Given the description of an element on the screen output the (x, y) to click on. 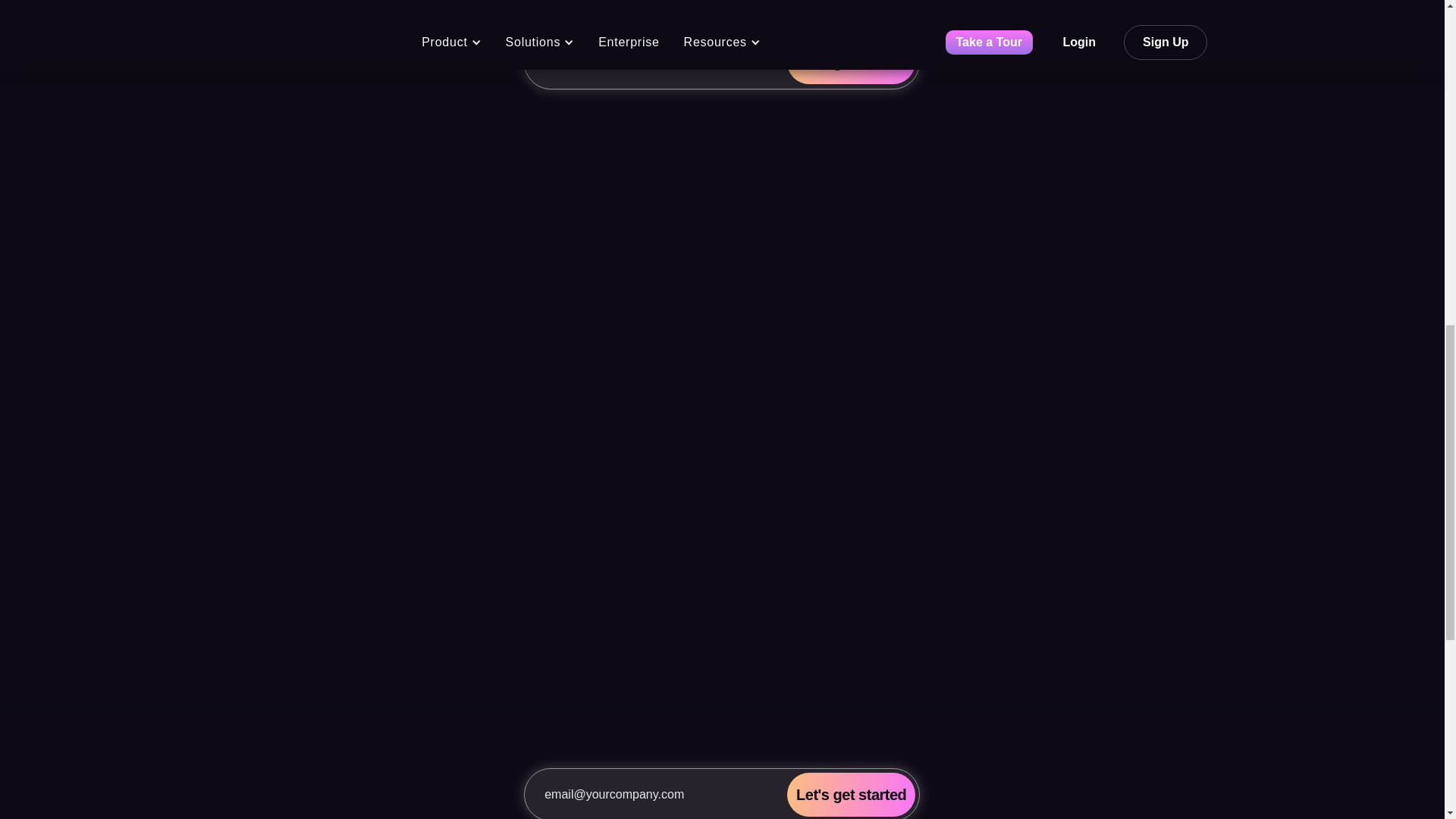
Let's get started (851, 62)
Let's get started (851, 62)
Let's get started (851, 794)
Let's get started (851, 794)
